Given the description of an element on the screen output the (x, y) to click on. 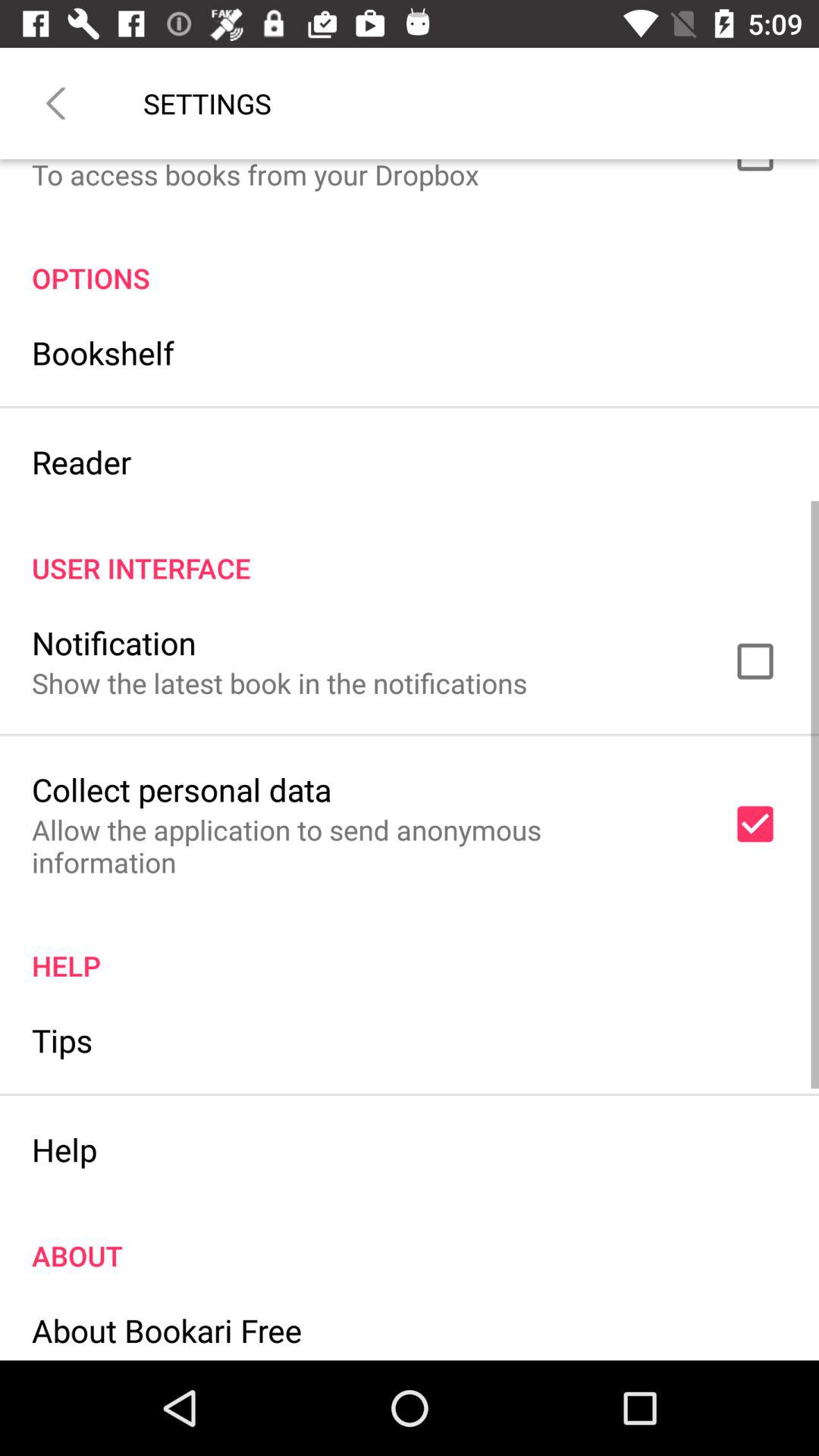
click the item below to access books (409, 261)
